Given the description of an element on the screen output the (x, y) to click on. 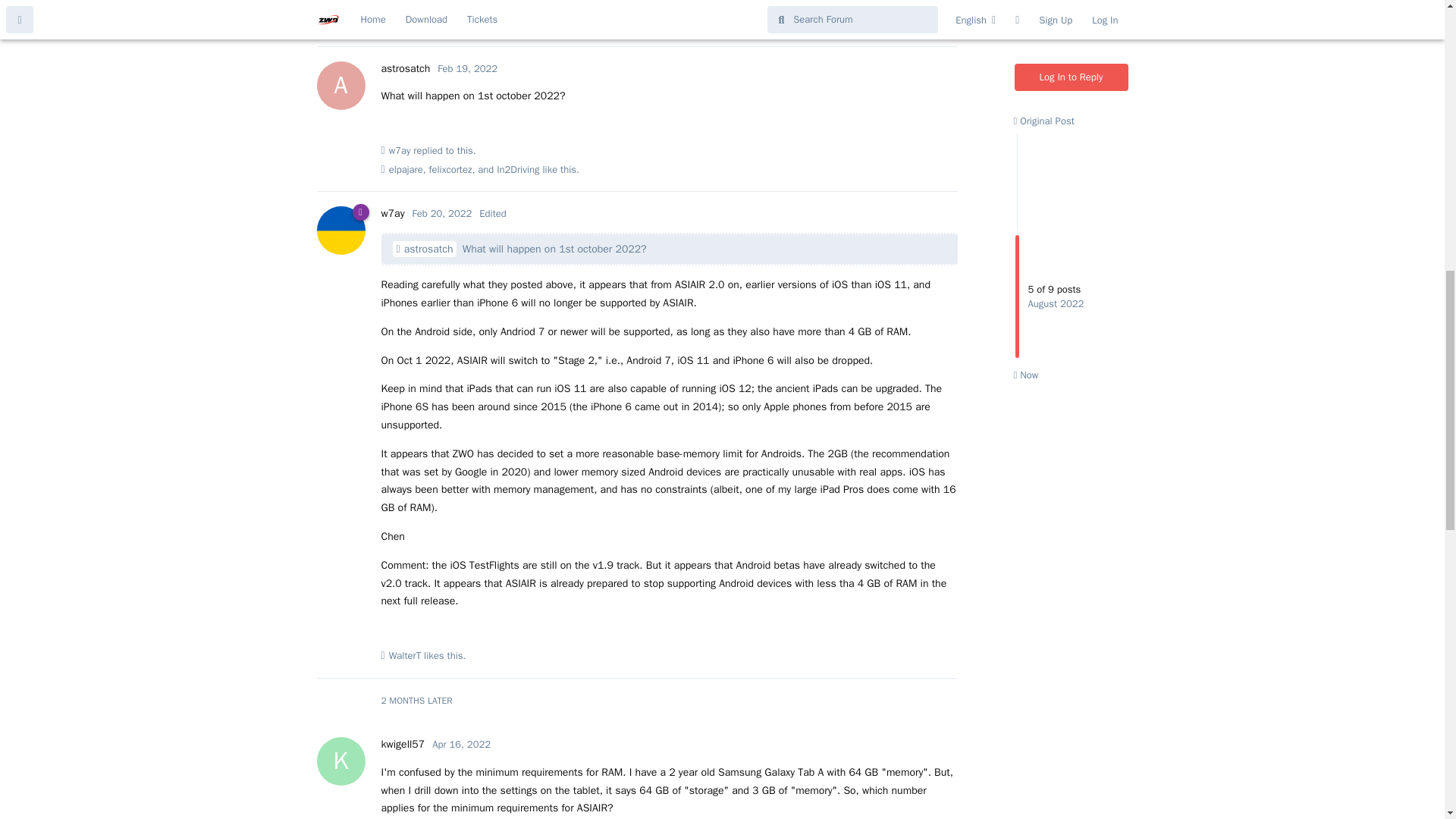
Saturday, April 16, 2022 1:42 AM (461, 744)
elpajare (405, 169)
Feb 20, 2022 (441, 213)
Sunday, February 20, 2022 11:18 AM (404, 68)
Apr 16, 2022 (402, 744)
felixcortez (441, 213)
In2Driving (461, 744)
Feb 19, 2022 (450, 169)
WalterT (517, 169)
Saturday, February 19, 2022 5:04 PM (467, 68)
w7ay (405, 655)
astrosatch (467, 68)
w7ay (392, 213)
